Given the description of an element on the screen output the (x, y) to click on. 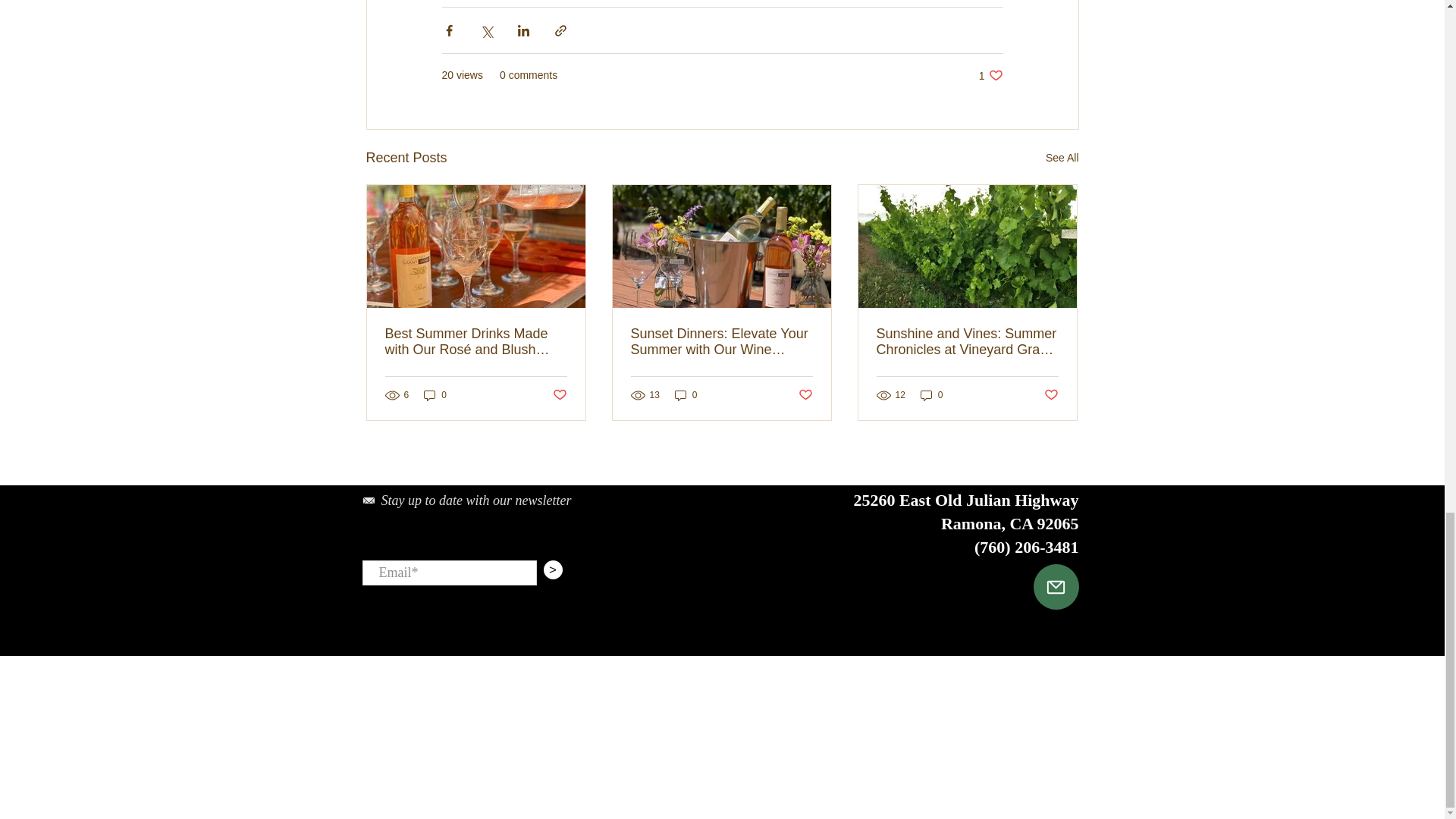
See All (990, 74)
Post not marked as liked (1061, 157)
0 (558, 395)
Sunset Dinners: Elevate Your Summer with Our Wine Pairings (435, 394)
